Given the description of an element on the screen output the (x, y) to click on. 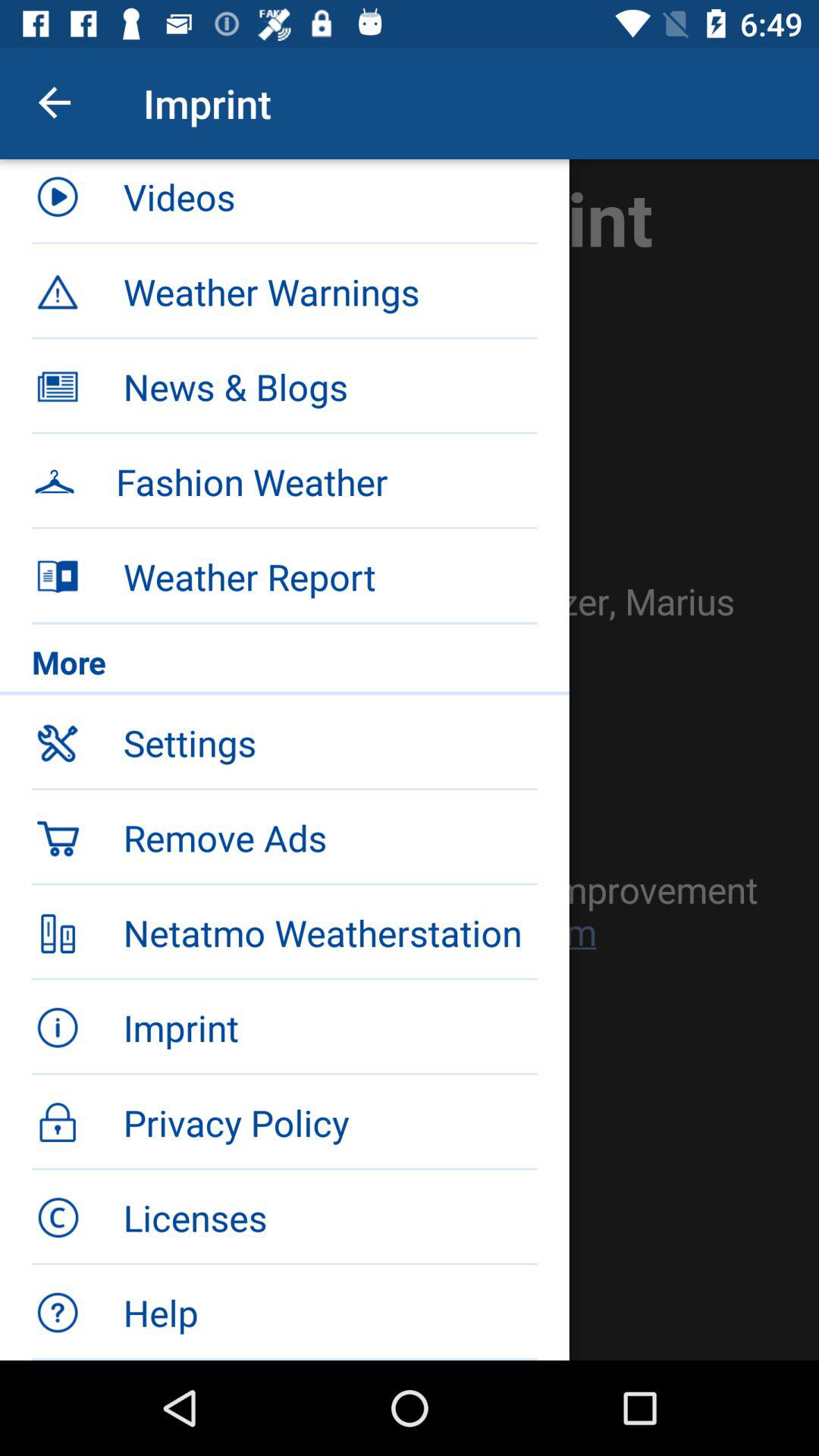
view menu (409, 759)
